Given the description of an element on the screen output the (x, y) to click on. 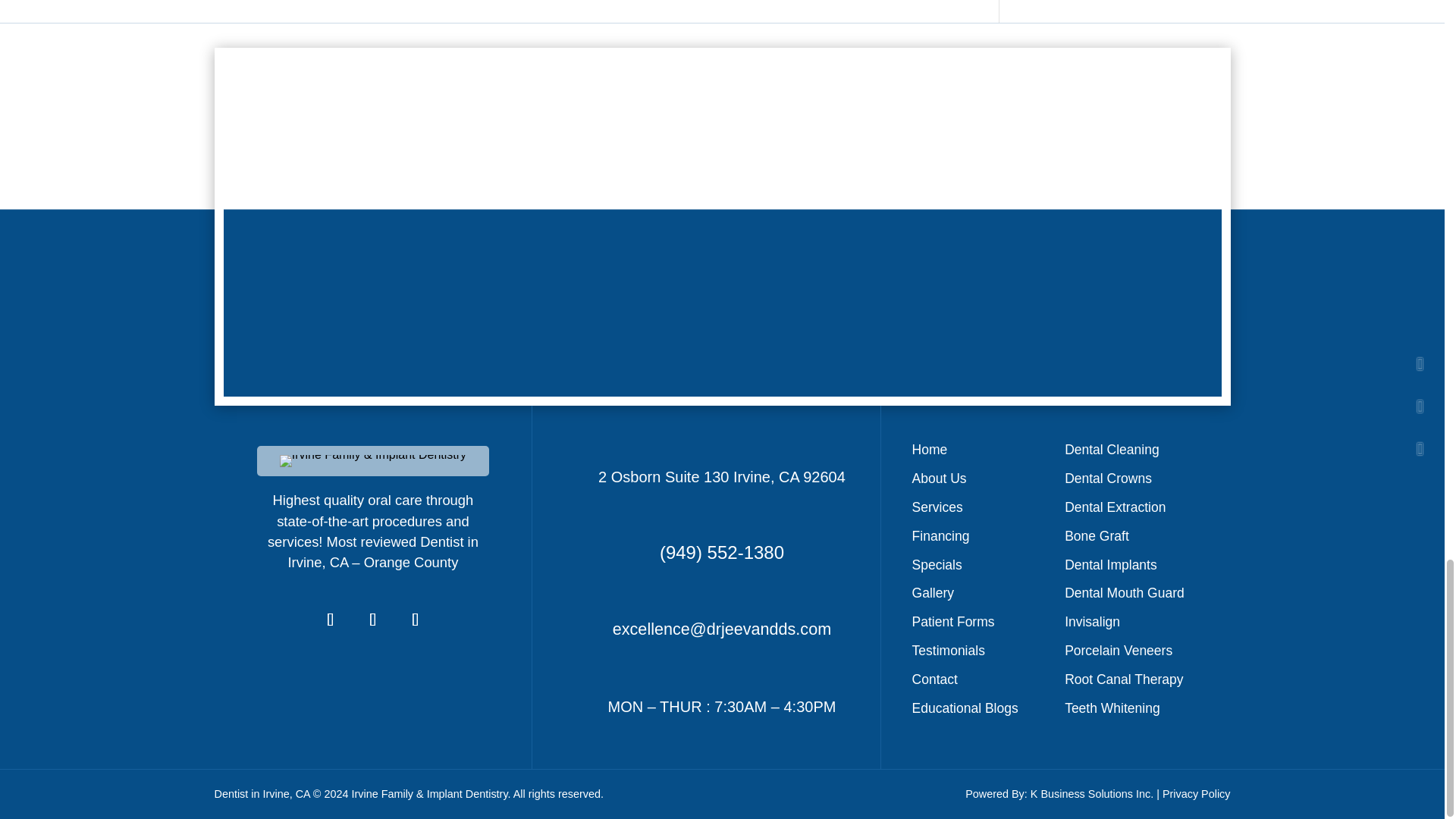
Follow on Facebook (331, 619)
Follow on Instagram (415, 619)
Follow on X (373, 619)
